Given the description of an element on the screen output the (x, y) to click on. 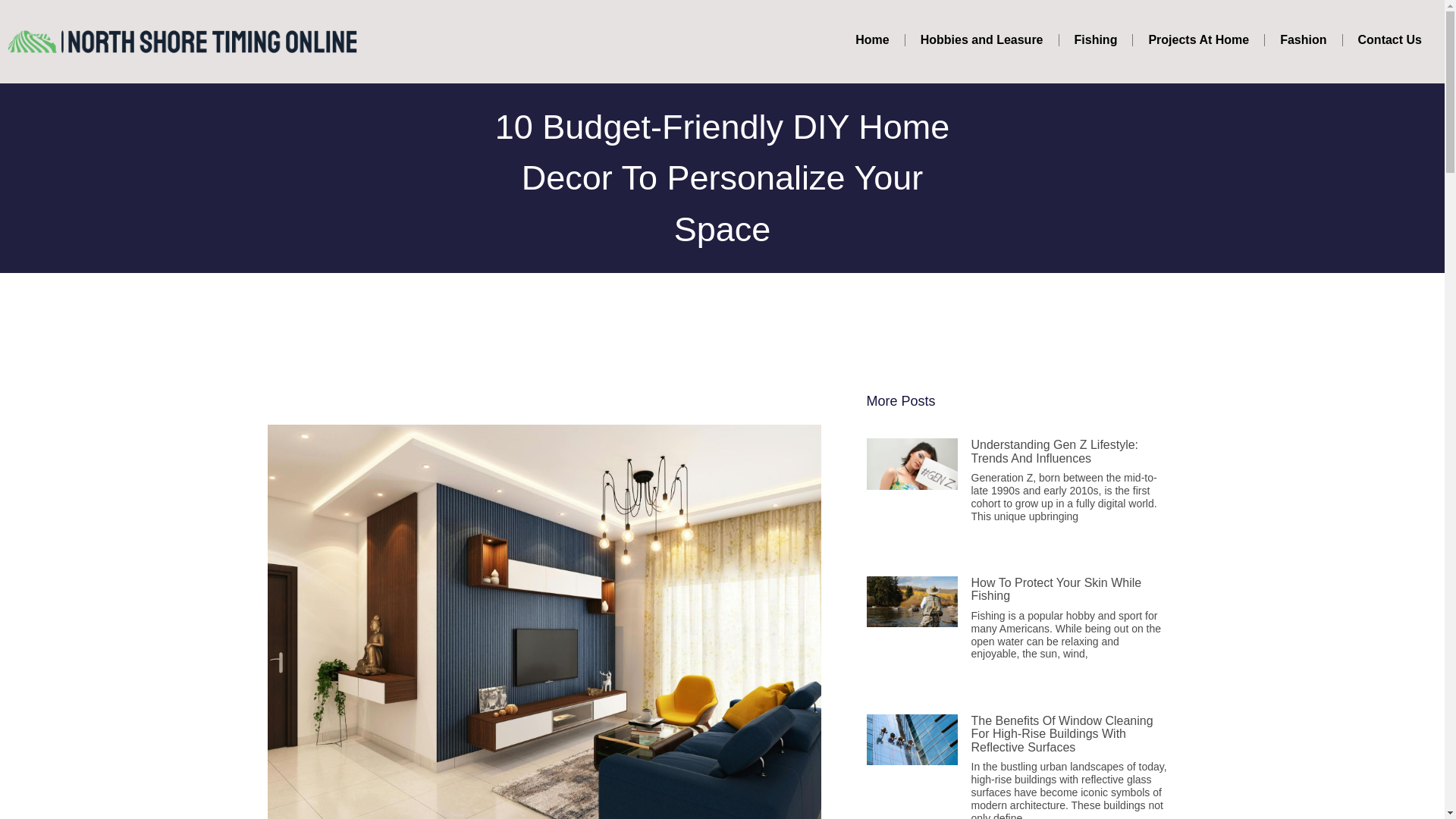
Contact Us (1389, 39)
Fashion (1302, 39)
How To Protect Your Skin While Fishing (1056, 589)
Fishing (1095, 39)
Projects At Home (1197, 39)
Hobbies and Leasure (981, 39)
Home (872, 39)
Understanding Gen Z Lifestyle: Trends And Influences (1054, 451)
